Given the description of an element on the screen output the (x, y) to click on. 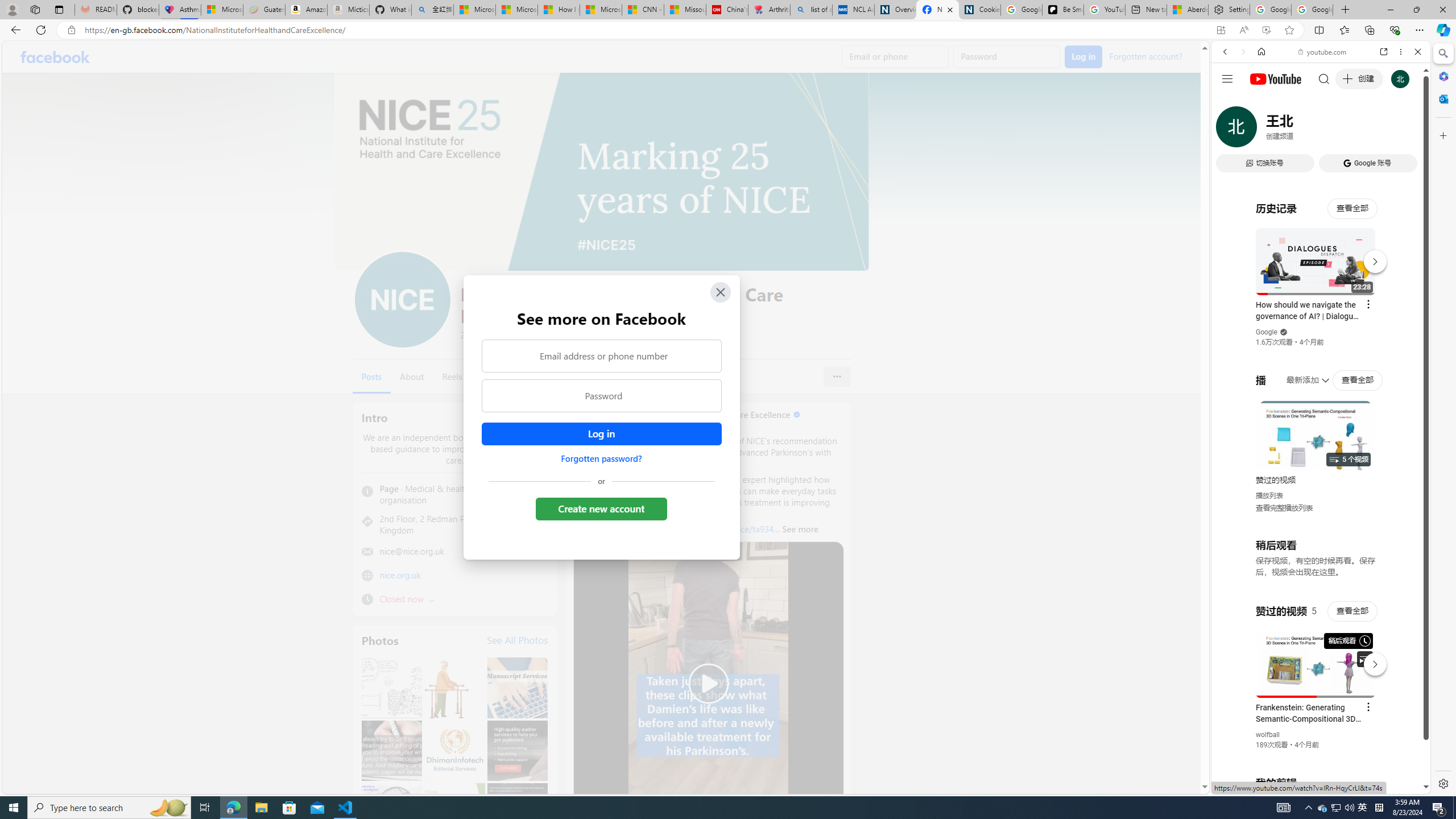
Trailer #2 [HD] (1320, 336)
US[ju] (1249, 785)
Search the web (1326, 78)
How I Got Rid of Microsoft Edge's Unnecessary Features (558, 9)
YouTube (1315, 655)
Search Filter, IMAGES (1262, 129)
Web scope (1230, 102)
Actions for this site (1371, 661)
